Given the description of an element on the screen output the (x, y) to click on. 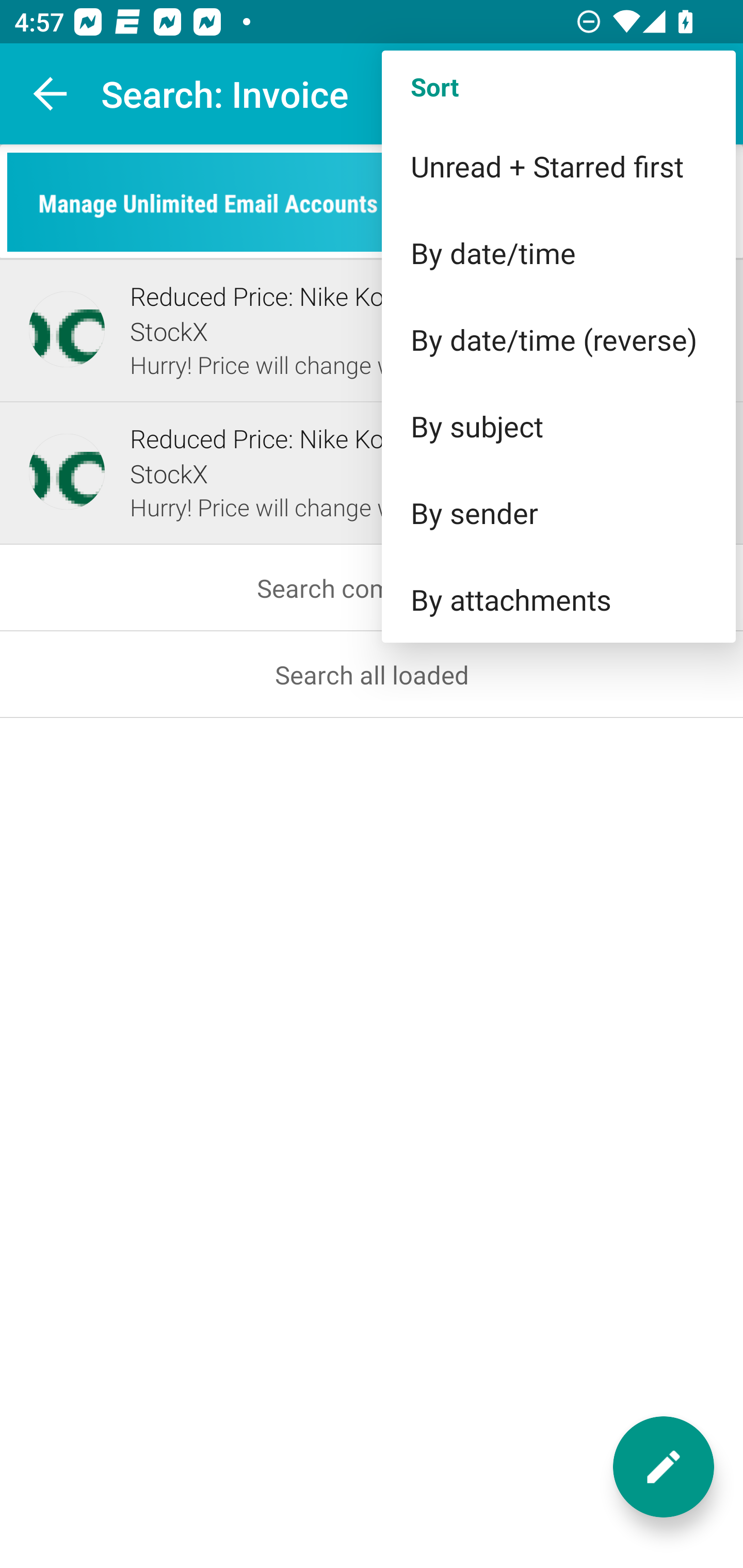
Unread + Starred first (558, 166)
By date/time (558, 253)
By date/time (reverse) (558, 339)
By subject (558, 425)
By sender (558, 512)
By attachments (558, 599)
